Given the description of an element on the screen output the (x, y) to click on. 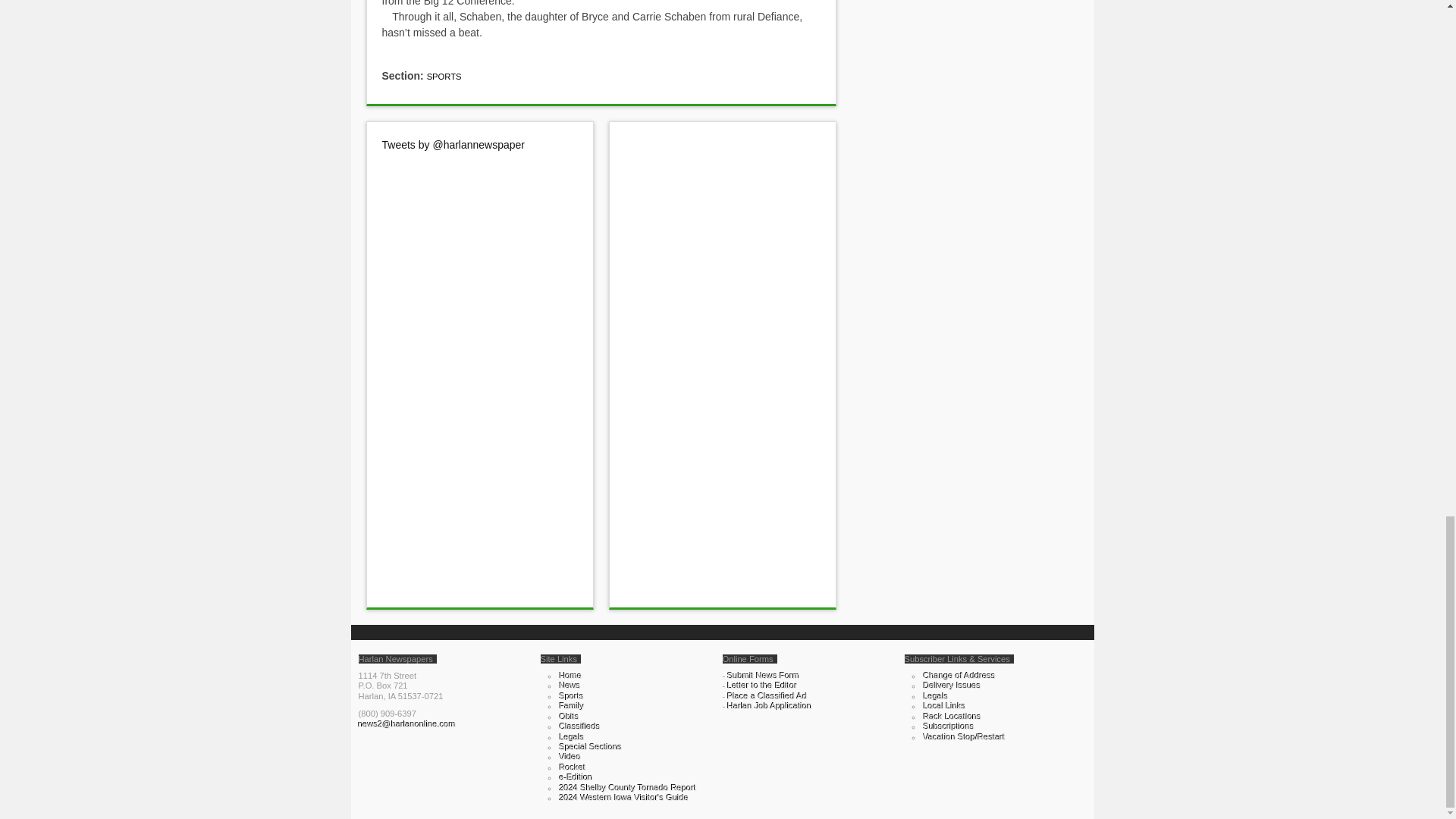
Family (572, 705)
Legals (572, 737)
Video (569, 756)
Classifieds (579, 726)
News (569, 685)
Home (570, 675)
Sports (571, 696)
Special Sections (591, 746)
SPORTS (443, 76)
Obits (569, 716)
